Given the description of an element on the screen output the (x, y) to click on. 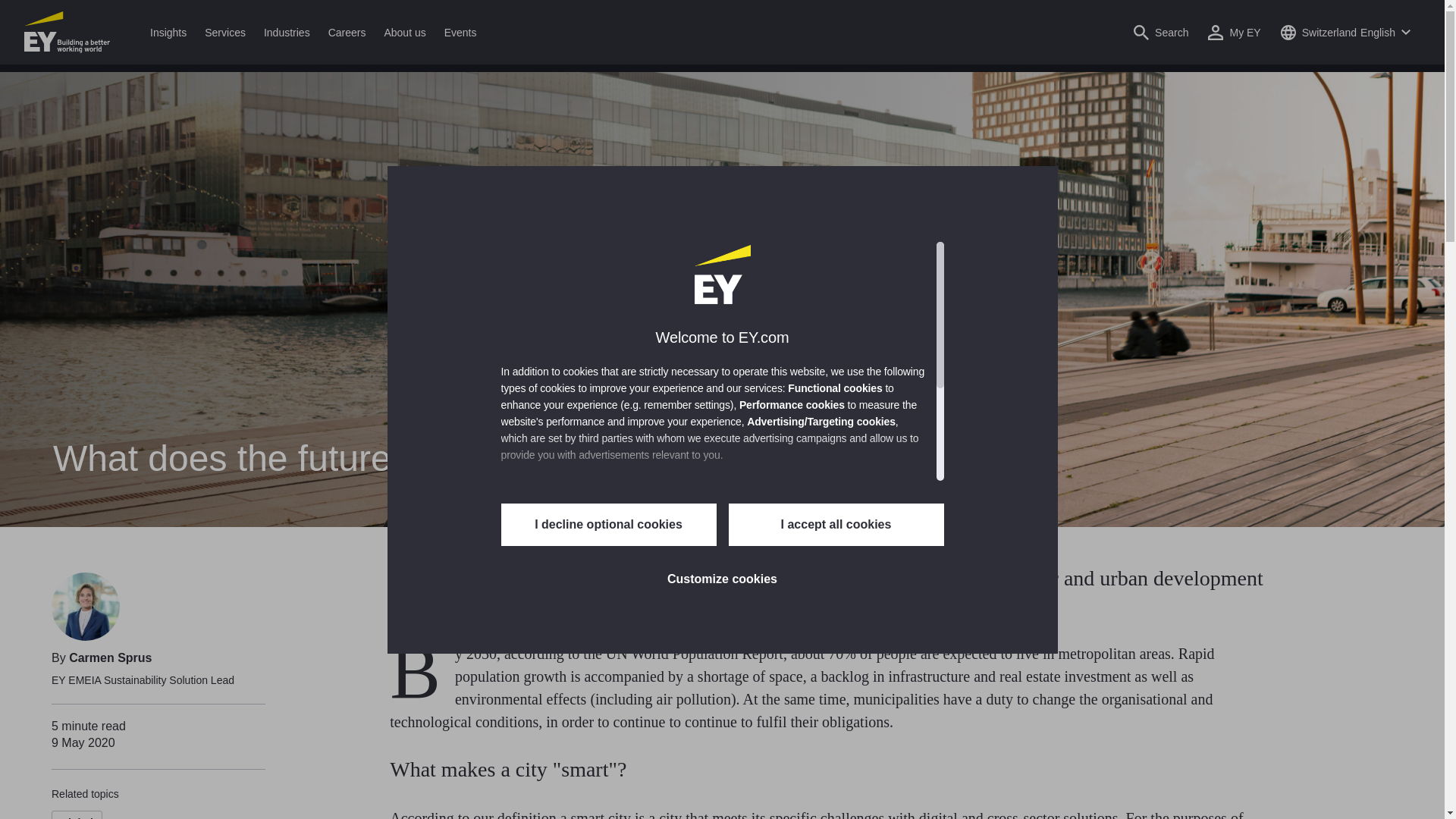
Carmen Sprus (84, 606)
My EY (1233, 32)
Open country language switcher (1344, 32)
EY Homepage (67, 32)
Open search (1160, 32)
